Given the description of an element on the screen output the (x, y) to click on. 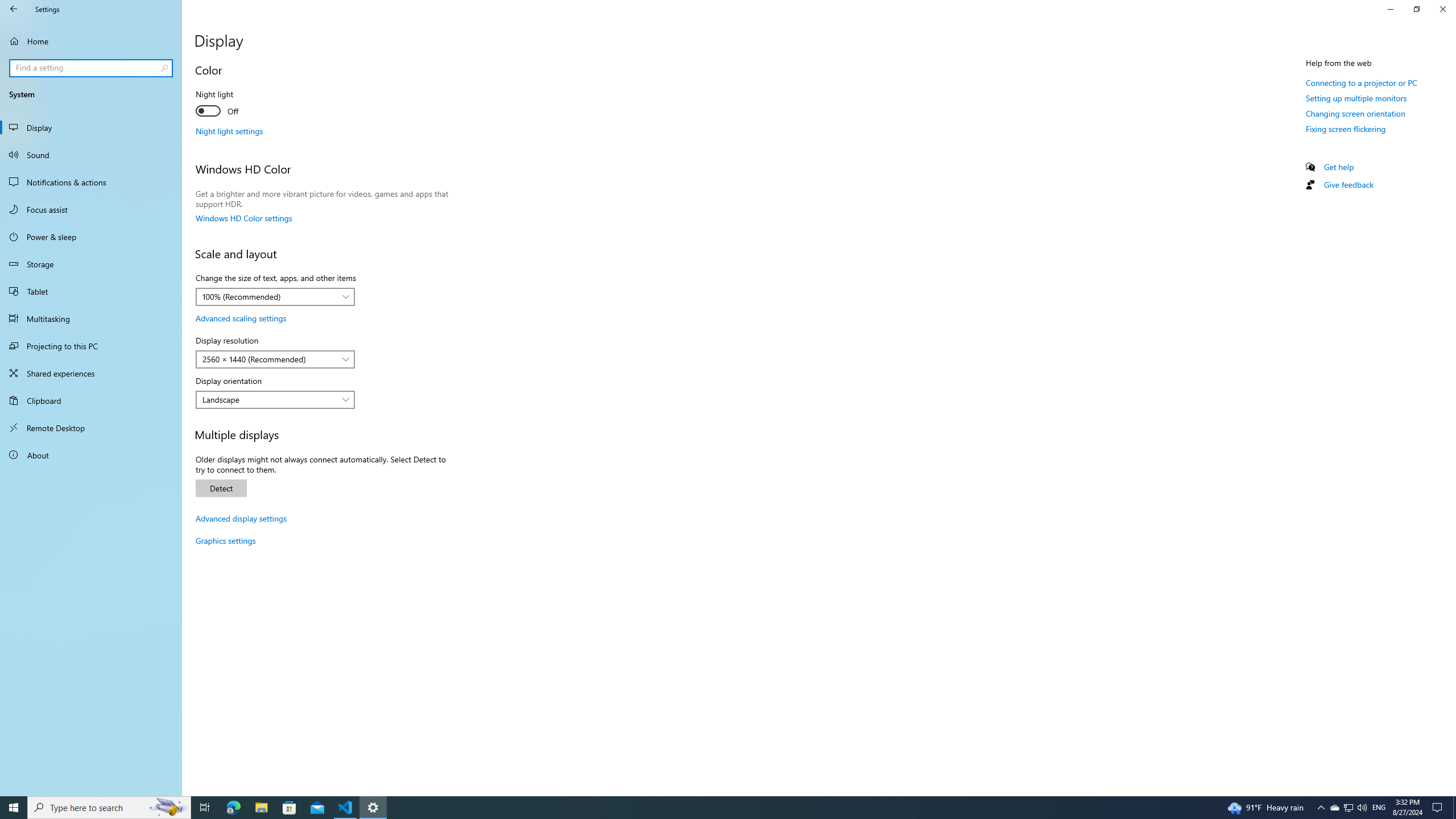
Landscape (269, 398)
Sound (91, 154)
Graphics settings (225, 540)
Connecting to a projector or PC (1361, 82)
100% (Recommended) (269, 296)
Display orientation (275, 399)
Focus assist (91, 208)
Home (91, 40)
Tray Input Indicator - English (United States) (1378, 807)
Close Settings (1442, 9)
